Given the description of an element on the screen output the (x, y) to click on. 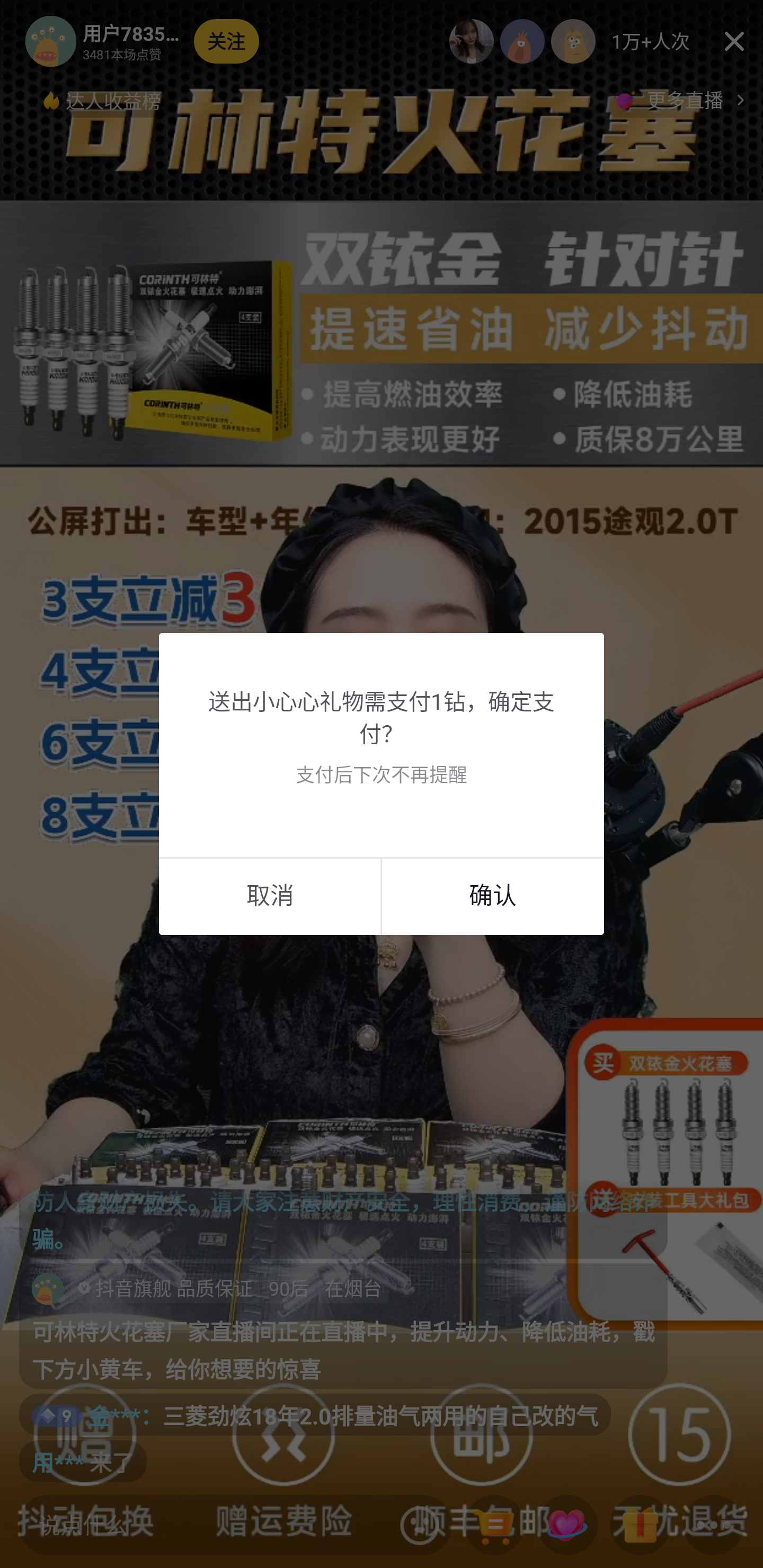
取消 (269, 894)
确认 (492, 894)
